Given the description of an element on the screen output the (x, y) to click on. 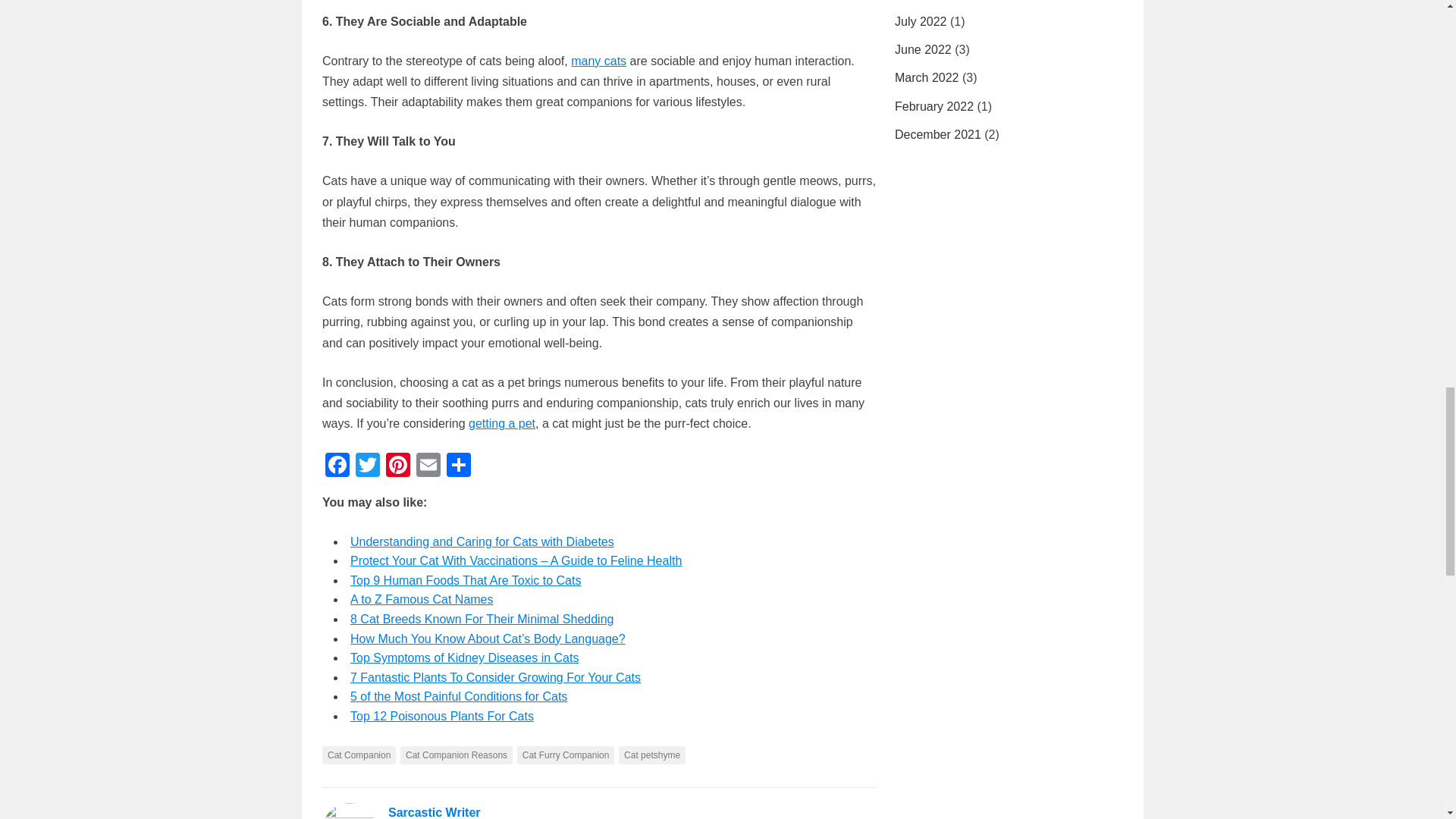
Pinterest (397, 466)
Facebook (336, 466)
Twitter (367, 466)
Email (428, 466)
